Given the description of an element on the screen output the (x, y) to click on. 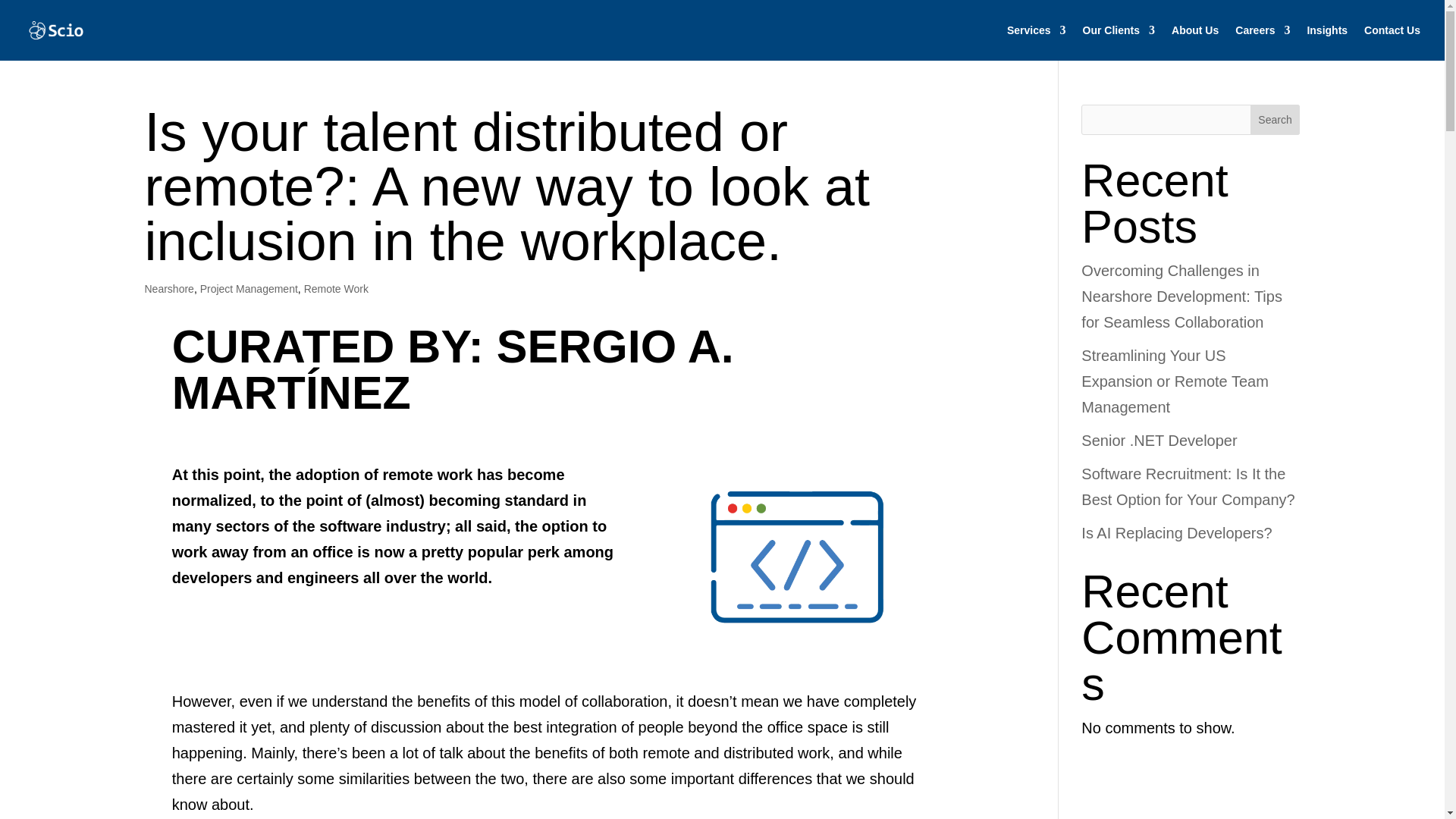
Search (1275, 119)
Streamlining Your US Expansion or Remote Team Management (1174, 381)
Senior .NET Developer (1158, 440)
Careers (1262, 42)
Why-Australian-companies-are-crying-out-for-tech-talent-1 (796, 556)
About Us (1195, 42)
Services (1036, 42)
Insights (1327, 42)
